Given the description of an element on the screen output the (x, y) to click on. 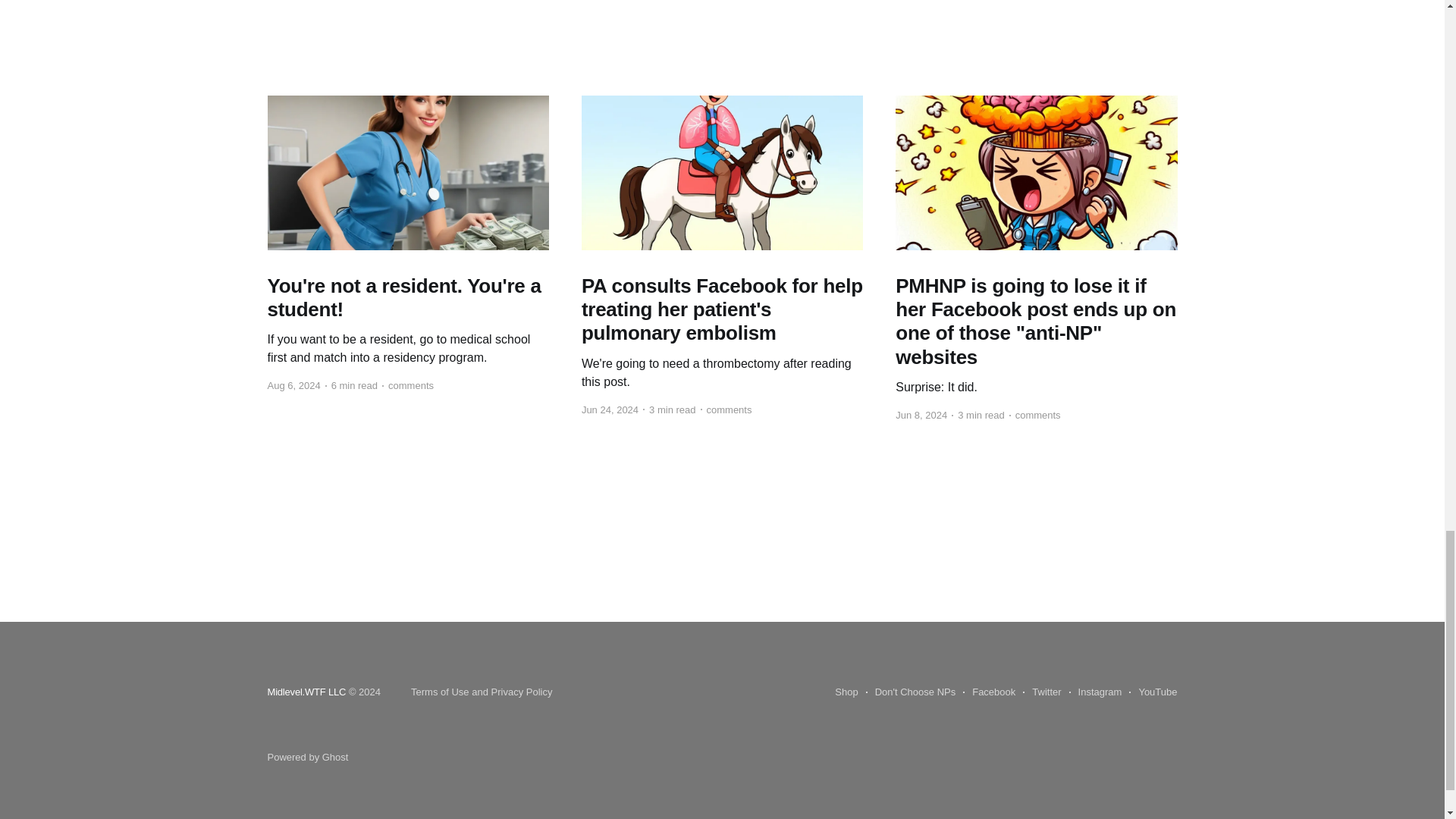
Privacy Policy (522, 691)
Midlevel.WTF LLC (306, 691)
comments (726, 410)
comments (1035, 415)
Terms of Use (439, 691)
Twitter (1042, 691)
comments (407, 385)
Powered by Ghost (306, 756)
Facebook (988, 691)
